Given the description of an element on the screen output the (x, y) to click on. 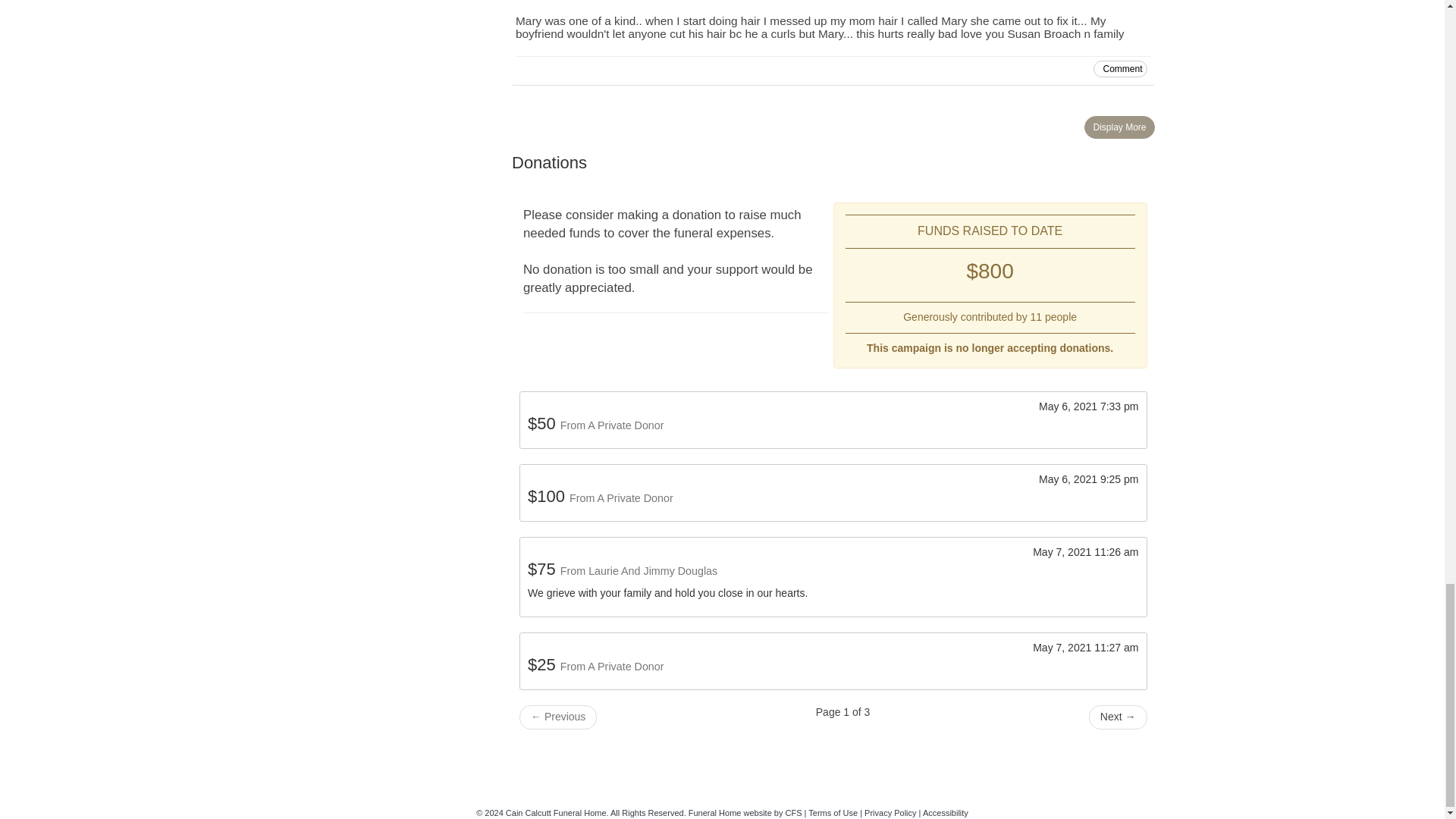
Display More (1119, 127)
  Comment (1120, 68)
